Given the description of an element on the screen output the (x, y) to click on. 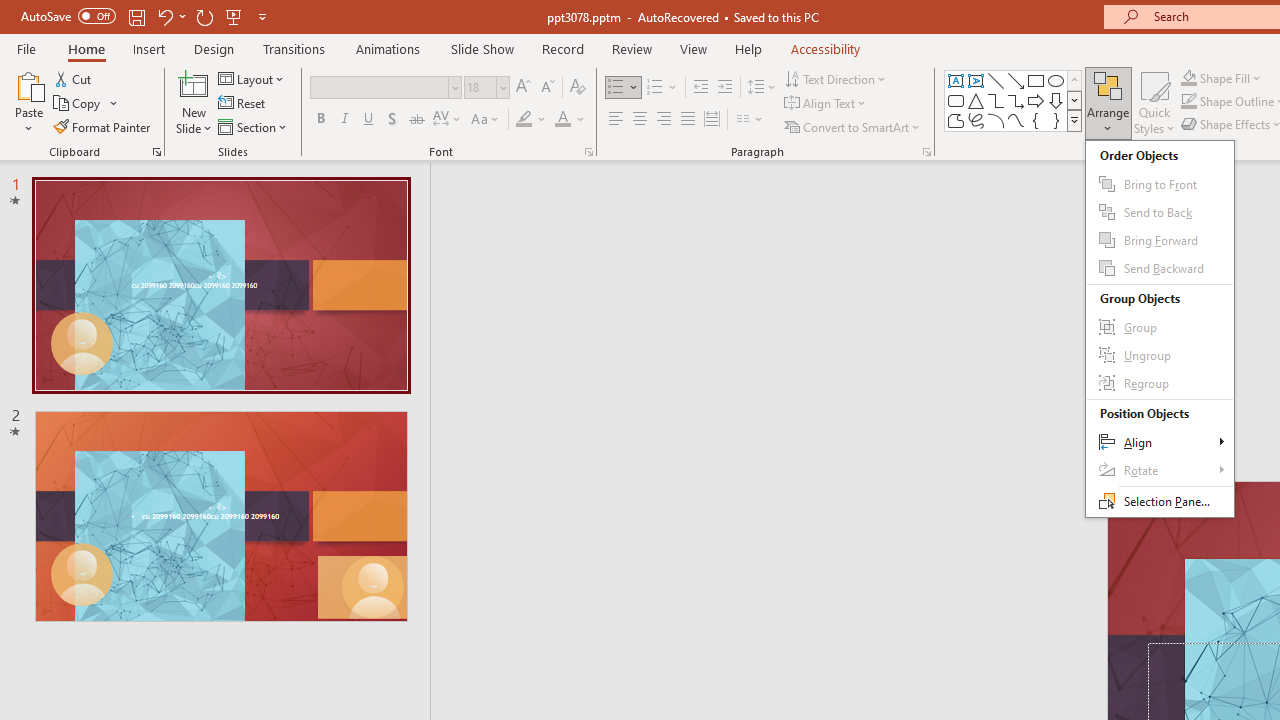
Increase Font Size (522, 87)
Line Arrow (1016, 80)
Shape Outline Green, Accent 1 (1188, 101)
Justify (687, 119)
Decrease Indent (700, 87)
Oval (1055, 80)
Rectangle: Rounded Corners (955, 100)
Underline (369, 119)
Reset (243, 103)
